Given the description of an element on the screen output the (x, y) to click on. 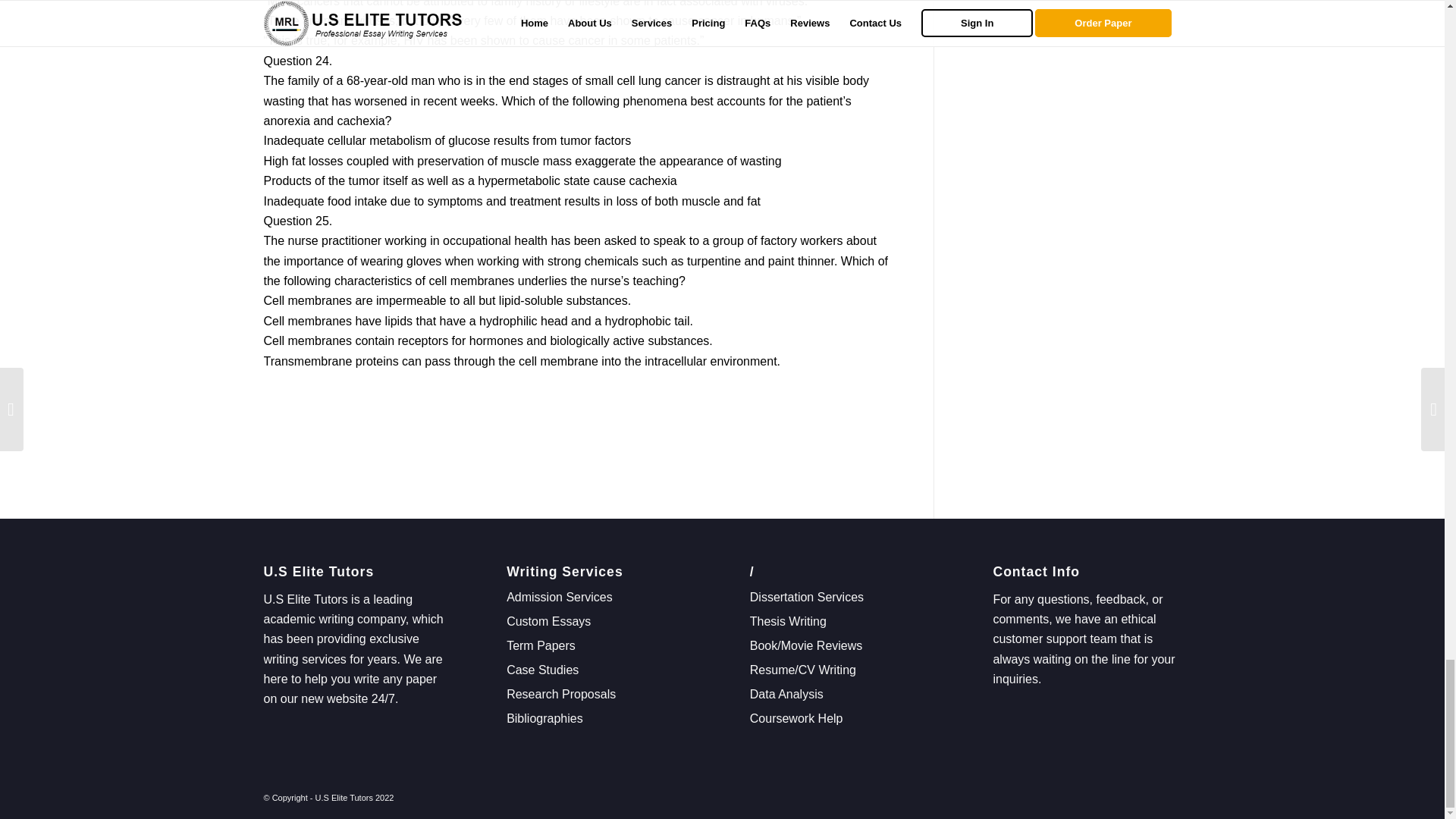
Dissertation Services (806, 596)
Research Proposals (560, 694)
Term Papers (540, 645)
Bibliographies (544, 717)
Admission Services (559, 596)
Data Analysis (786, 694)
Coursework Help (796, 717)
Case Studies (542, 669)
Thesis Writing (788, 621)
Custom Essays (548, 621)
